Given the description of an element on the screen output the (x, y) to click on. 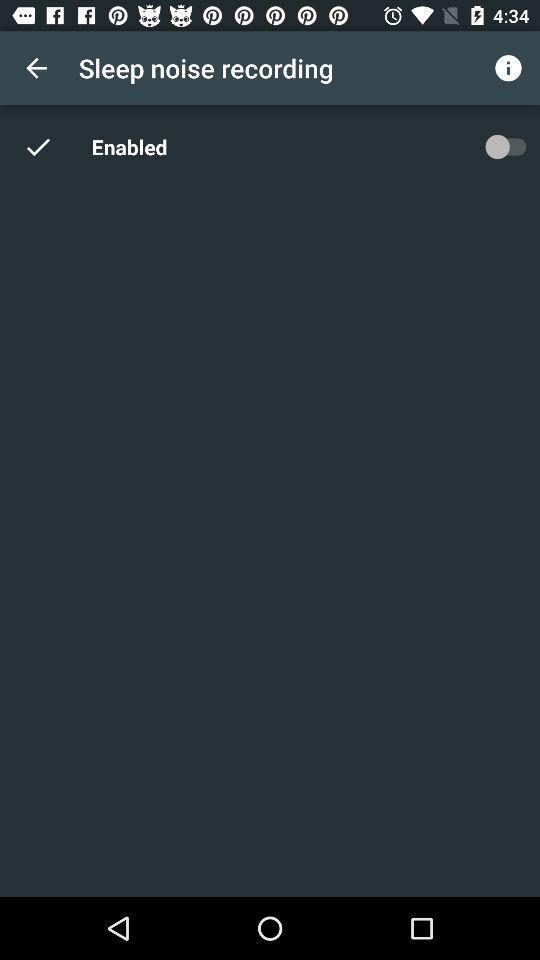
scroll to enabled icon (132, 146)
